Given the description of an element on the screen output the (x, y) to click on. 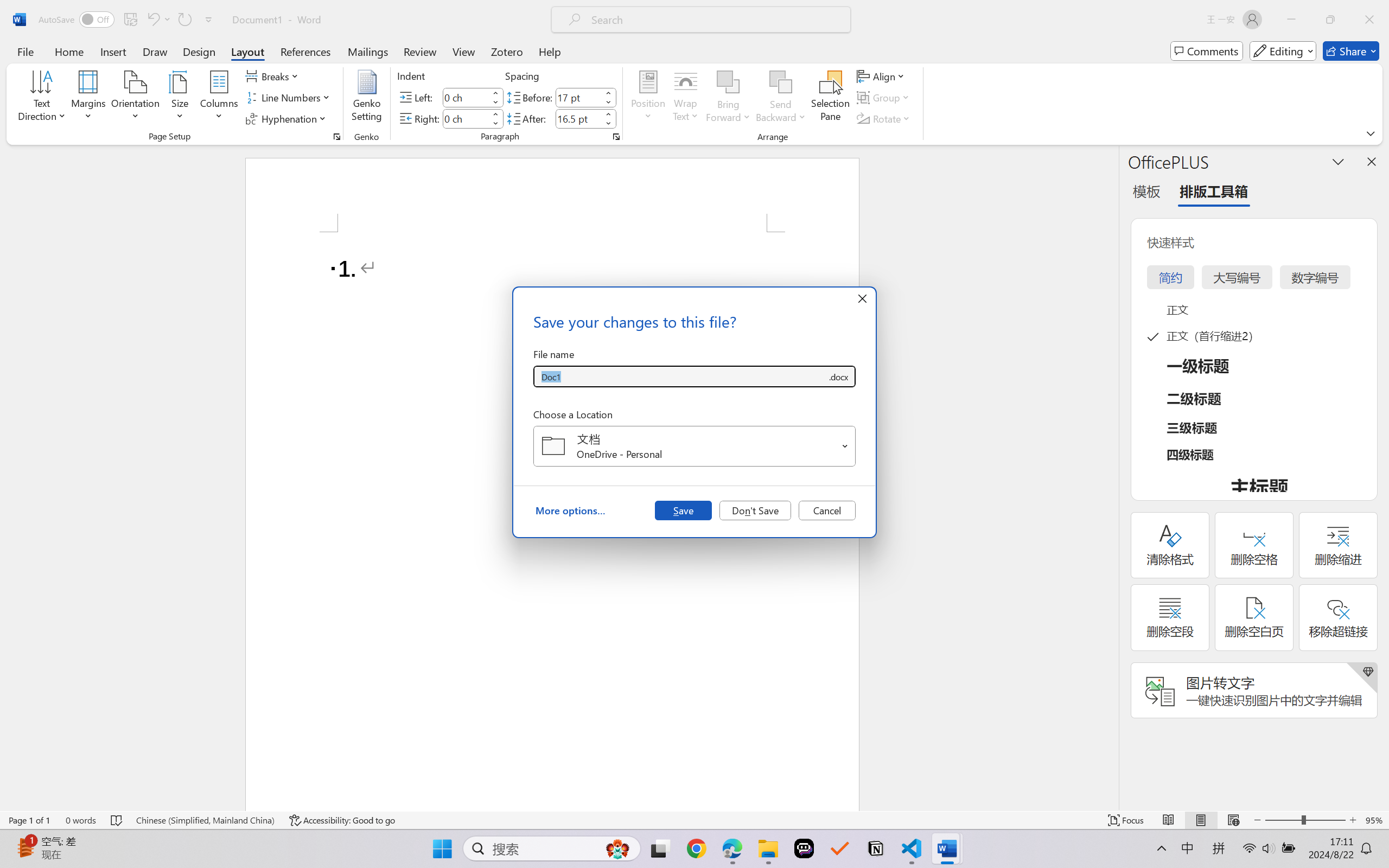
Google Chrome (696, 848)
Send Backward (781, 97)
Don't Save (755, 509)
